Given the description of an element on the screen output the (x, y) to click on. 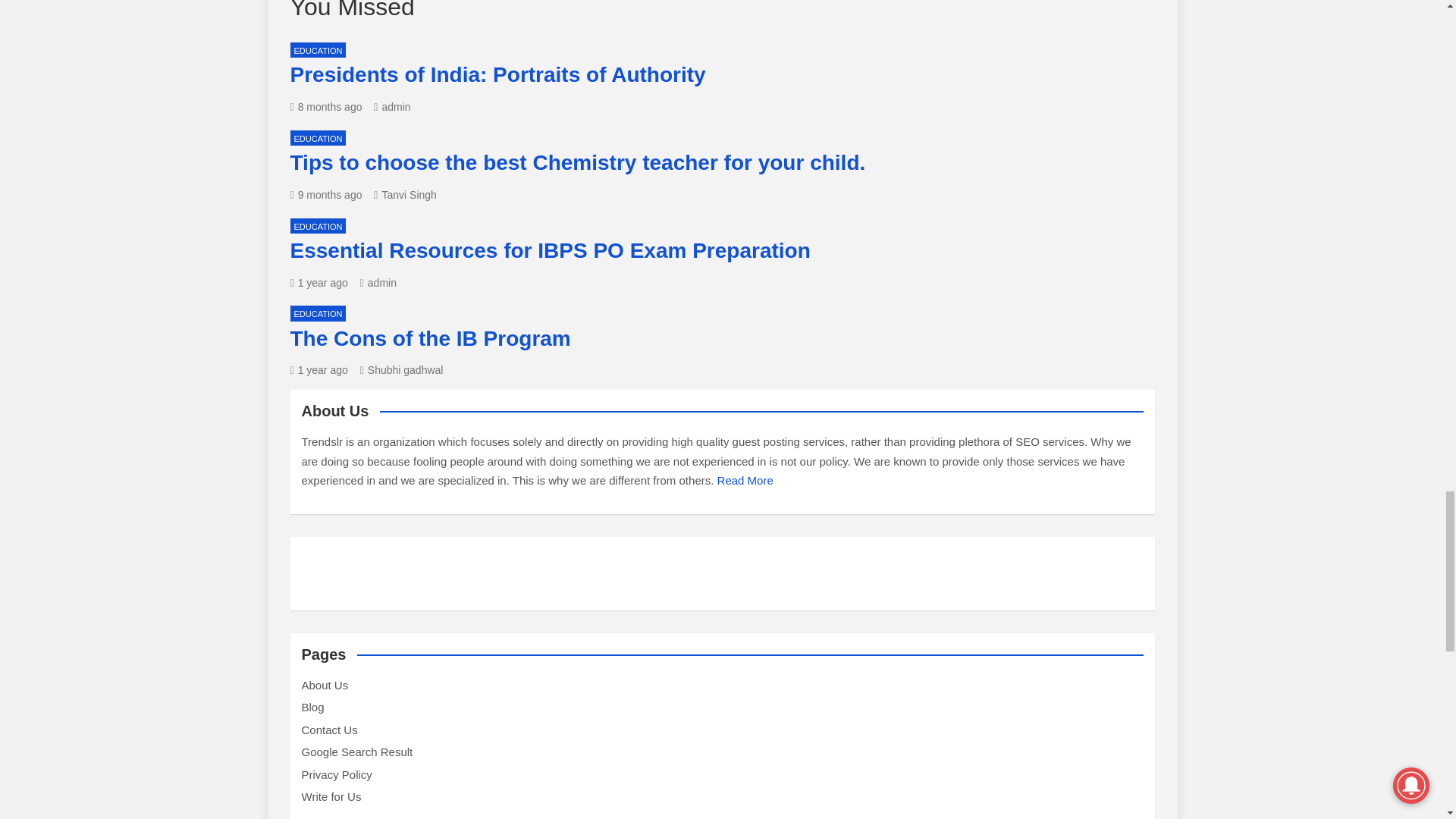
The Cons of the IB Program (318, 369)
Essential Resources for IBPS PO Exam Preparation (318, 282)
Tips to choose the best Chemistry teacher for your child. (325, 194)
